Given the description of an element on the screen output the (x, y) to click on. 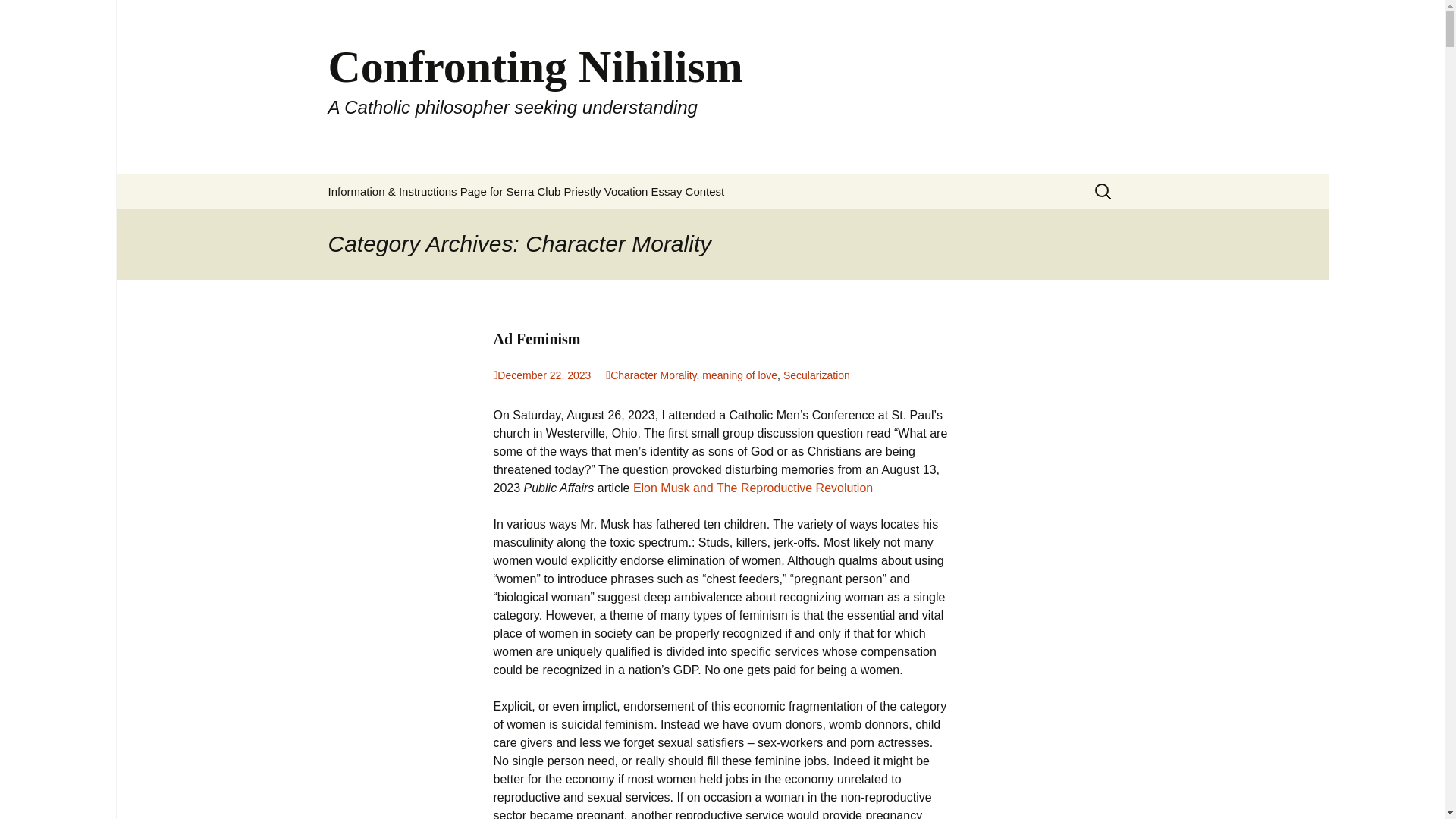
Ad Feminism (721, 338)
Permalink to Ad Feminism (542, 375)
Character Morality (650, 375)
meaning of love (739, 375)
December 22, 2023 (542, 375)
Elon Musk and The Reproductive Revolution (752, 487)
Search (18, 15)
Secularization (816, 375)
